Given the description of an element on the screen output the (x, y) to click on. 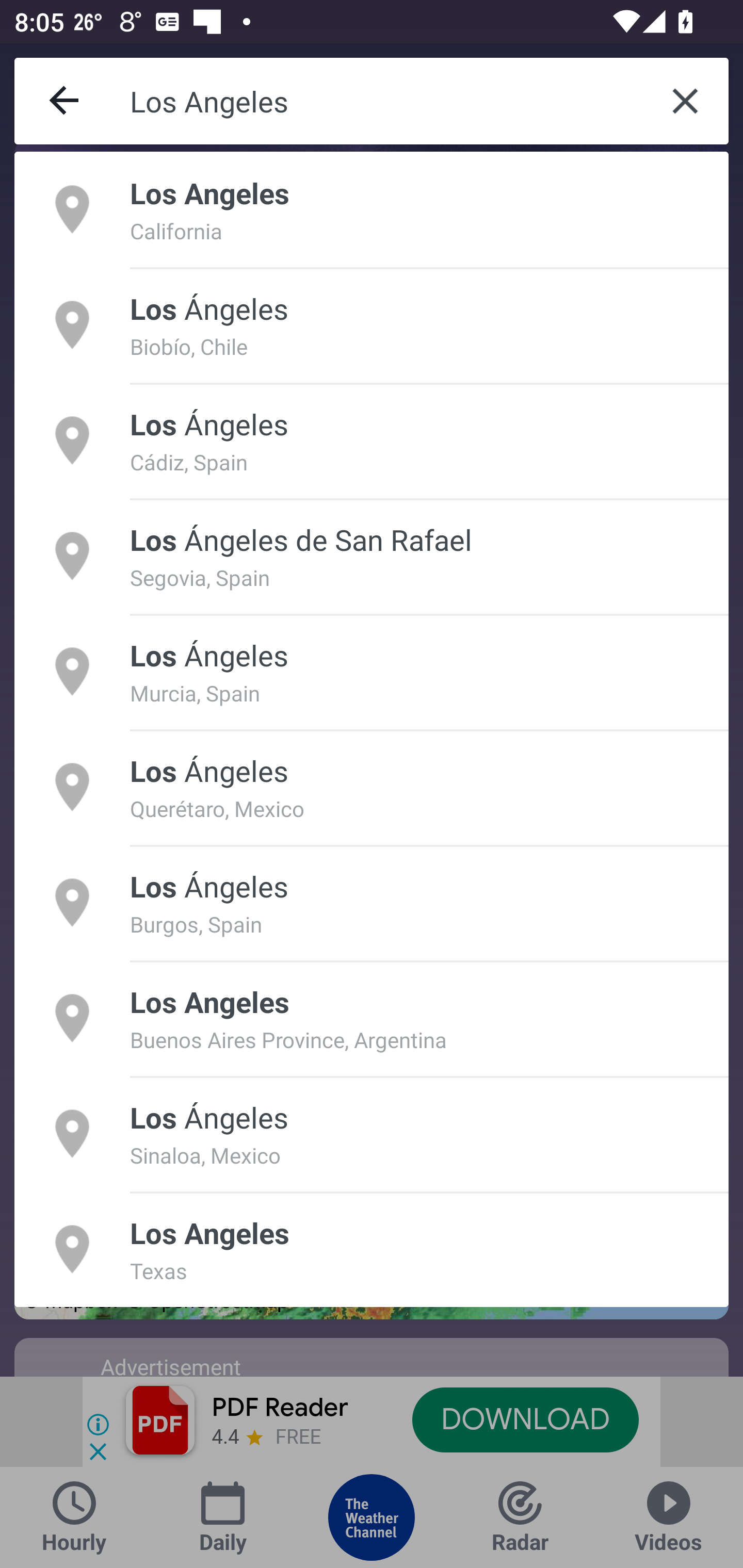
Back (64, 101)
Clear (684, 101)
Los Angeles (385, 100)
Los Angeles California (371, 209)
Los Ángeles Biobío, Chile (371, 324)
Los Ángeles Cádiz, Spain (371, 440)
Los Ángeles de San Rafael Segovia, Spain (371, 555)
Los Ángeles Murcia, Spain (371, 671)
Los Ángeles Querétaro, Mexico (371, 787)
Los Ángeles Burgos, Spain (371, 902)
Los Angeles Buenos Aires Province, Argentina (371, 1017)
Los Ángeles Sinaloa, Mexico (371, 1133)
Los Angeles Texas (371, 1249)
